Given the description of an element on the screen output the (x, y) to click on. 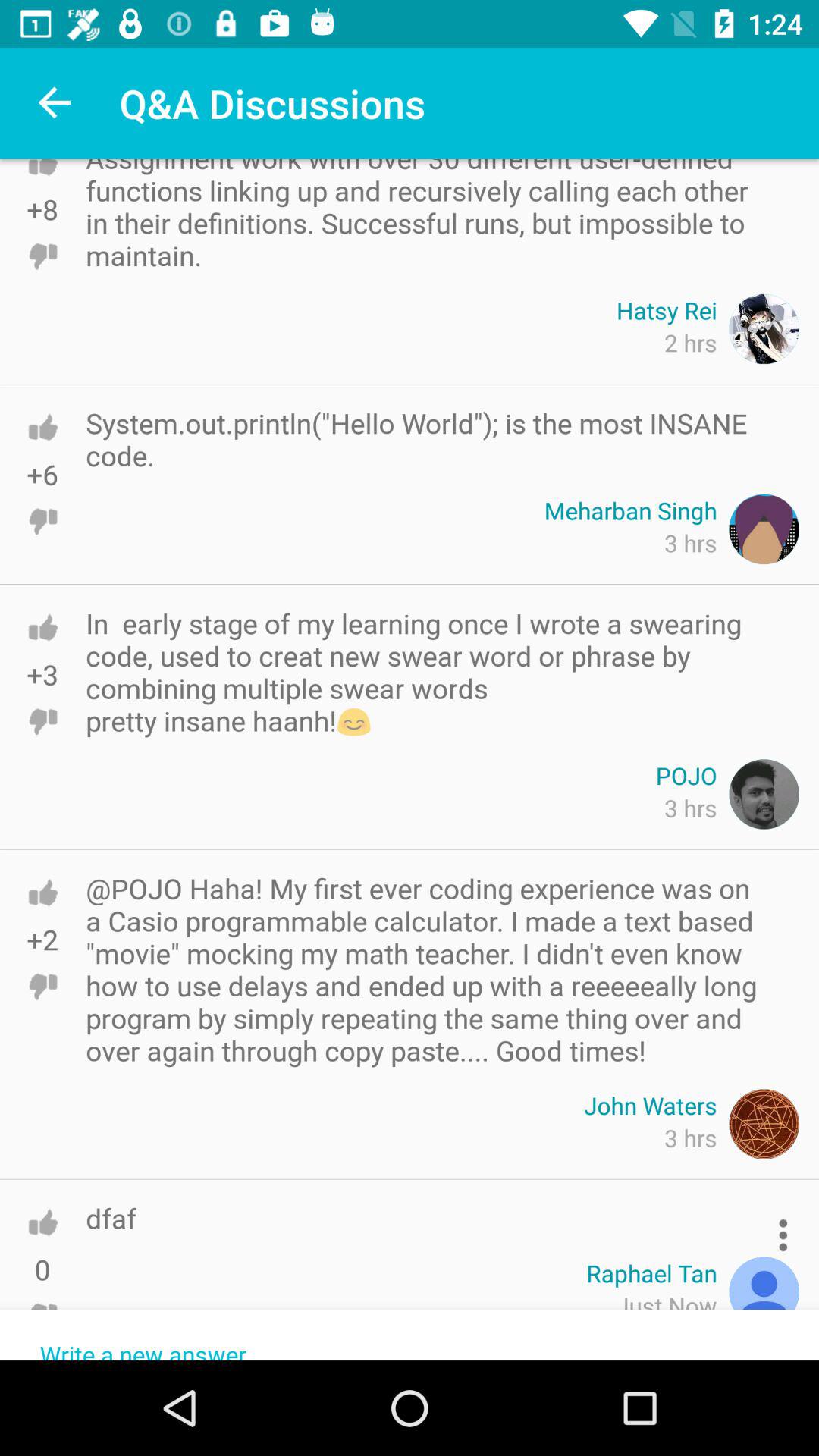
like this comment (42, 182)
